Given the description of an element on the screen output the (x, y) to click on. 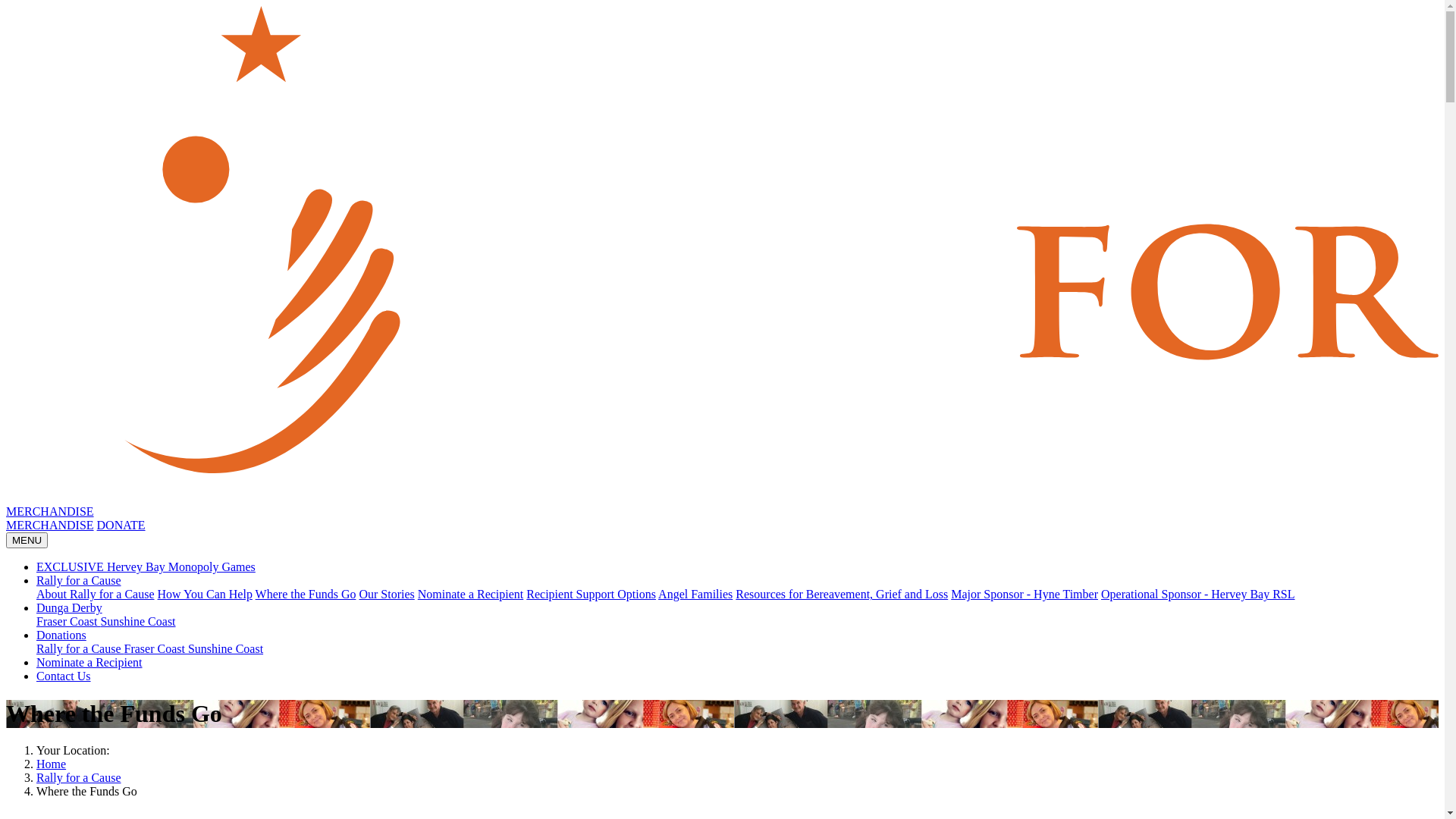
Sunshine Coast Element type: text (137, 621)
Donations Element type: text (61, 634)
Fraser Coast Element type: text (68, 621)
Rally for a Cause Element type: text (78, 580)
Contact Us Element type: text (63, 675)
About Rally for a Cause Element type: text (95, 593)
MERCHANDISE Element type: text (50, 524)
Nominate a Recipient Element type: text (89, 661)
Fraser Coast Element type: text (156, 648)
Where the Funds Go Element type: text (305, 593)
Home Element type: text (50, 763)
Resources for Bereavement, Grief and Loss Element type: text (841, 593)
Rally for a Cause Element type: text (78, 777)
MENU Element type: text (26, 540)
MERCHANDISE Element type: text (50, 511)
DONATE Element type: text (121, 524)
Sunshine Coast Element type: text (225, 648)
Our Stories Element type: text (386, 593)
Recipient Support Options Element type: text (590, 593)
Dunga Derby Element type: text (69, 607)
Operational Sponsor - Hervey Bay RSL Element type: text (1198, 593)
Major Sponsor - Hyne Timber Element type: text (1024, 593)
EXCLUSIVE Hervey Bay Monopoly Games Element type: text (145, 566)
Nominate a Recipient Element type: text (470, 593)
Angel Families Element type: text (695, 593)
How You Can Help Element type: text (204, 593)
Rally for a Cause Element type: text (80, 648)
